Given the description of an element on the screen output the (x, y) to click on. 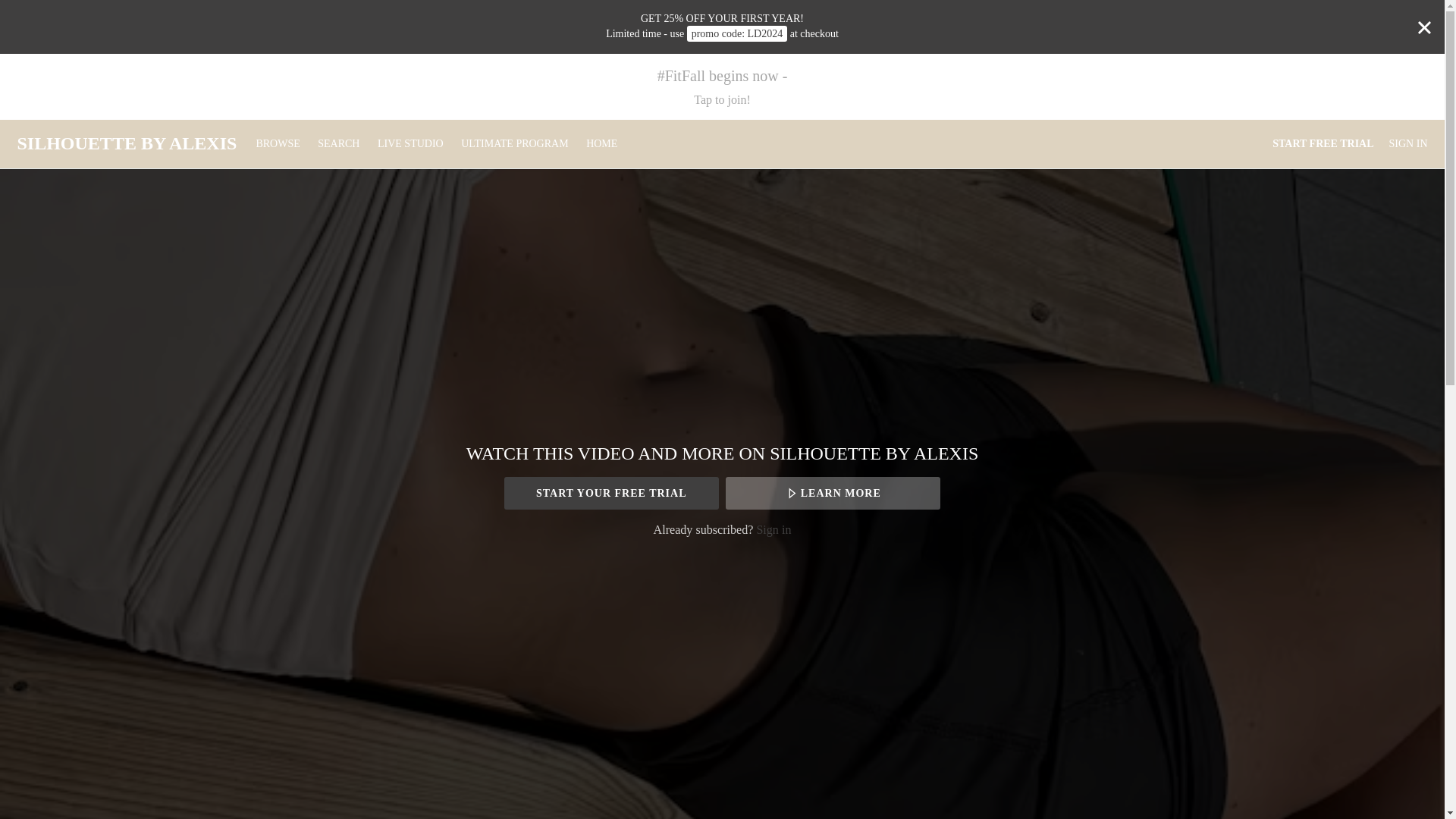
HOME (601, 143)
SEARCH (339, 143)
LIVE STUDIO (410, 143)
START YOUR FREE TRIAL (611, 492)
START FREE TRIAL (1322, 143)
ULTIMATE PROGRAM (513, 143)
SIGN IN (1408, 143)
Sign in (772, 529)
LEARN MORE (832, 492)
BROWSE (278, 143)
